Given the description of an element on the screen output the (x, y) to click on. 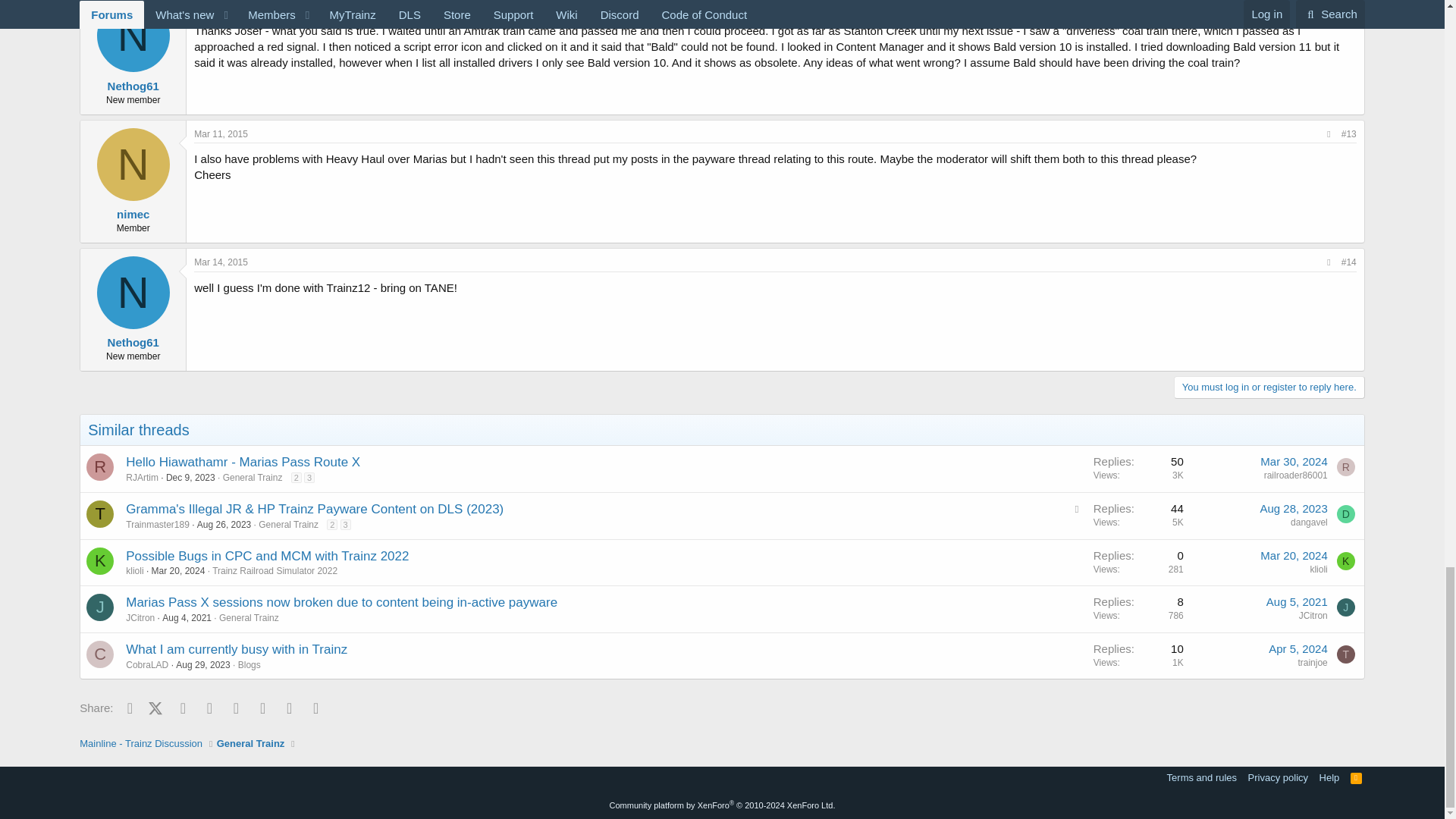
Mar 11, 2015 at 4:49 AM (220, 133)
Mar 11, 2015 at 2:53 AM (220, 5)
Mar 14, 2015 at 10:08 PM (220, 262)
